Given the description of an element on the screen output the (x, y) to click on. 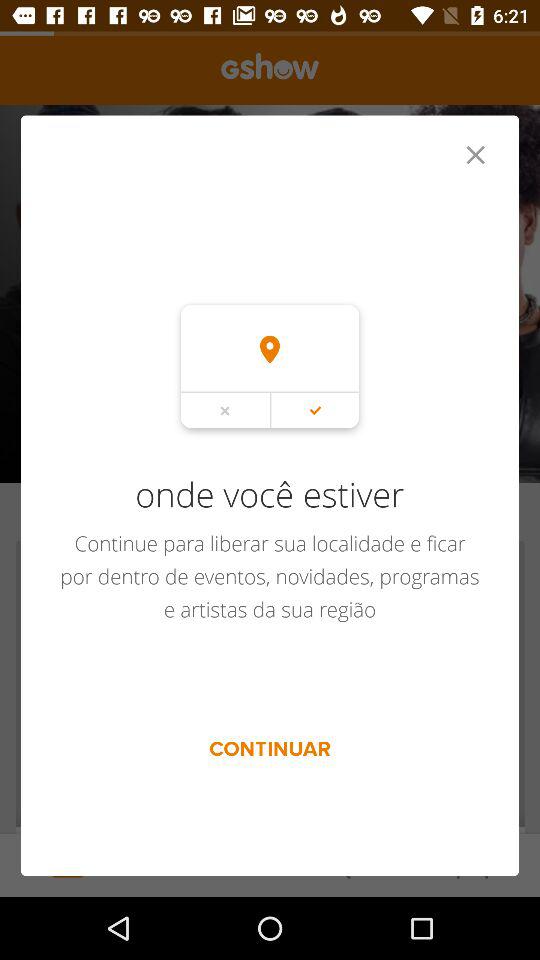
tap item at the top right corner (475, 154)
